Given the description of an element on the screen output the (x, y) to click on. 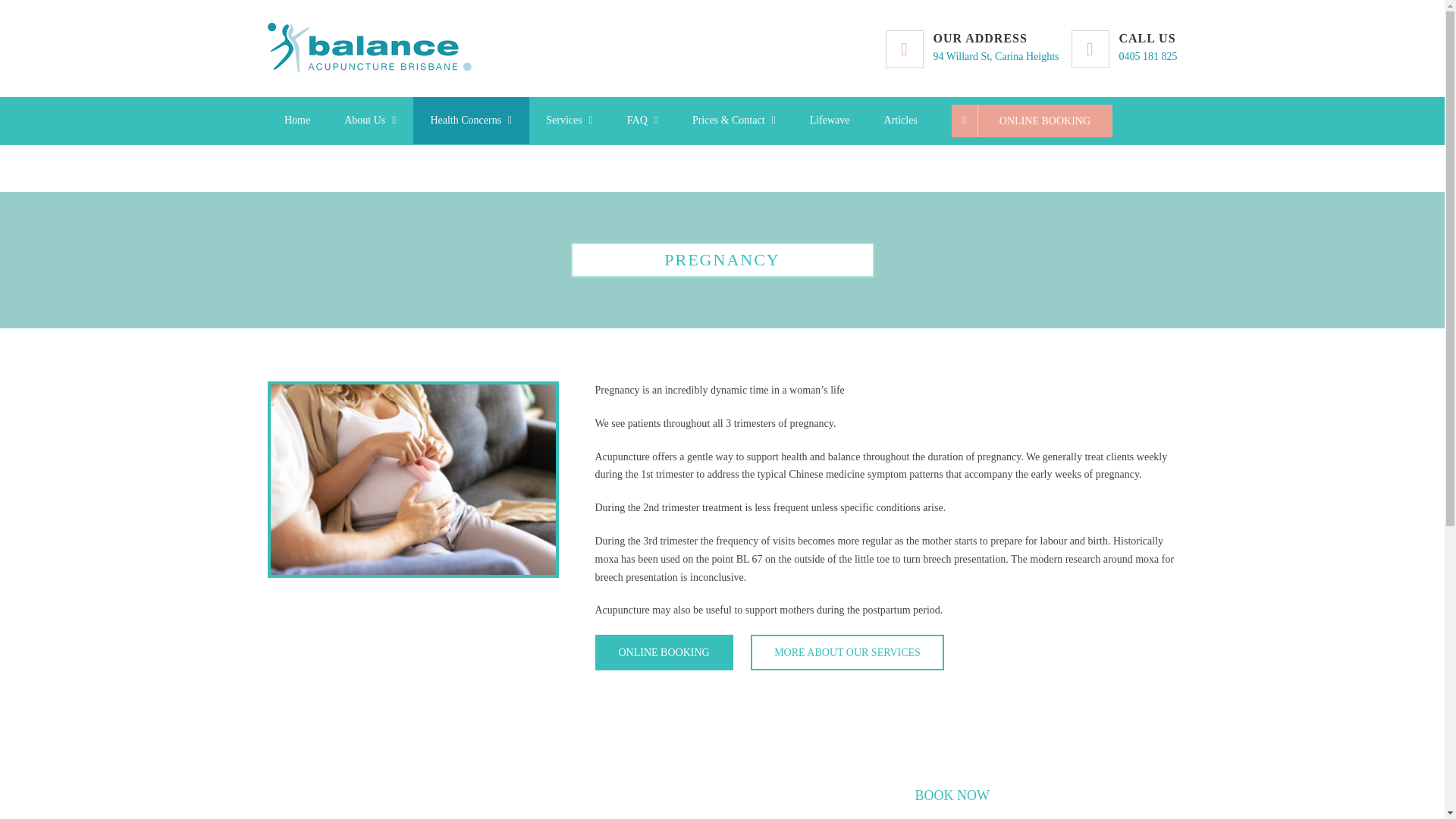
Services (569, 120)
Home (1148, 48)
FAQ (296, 120)
About Us (995, 48)
Health Concerns (642, 120)
pregnancy (370, 120)
